Given the description of an element on the screen output the (x, y) to click on. 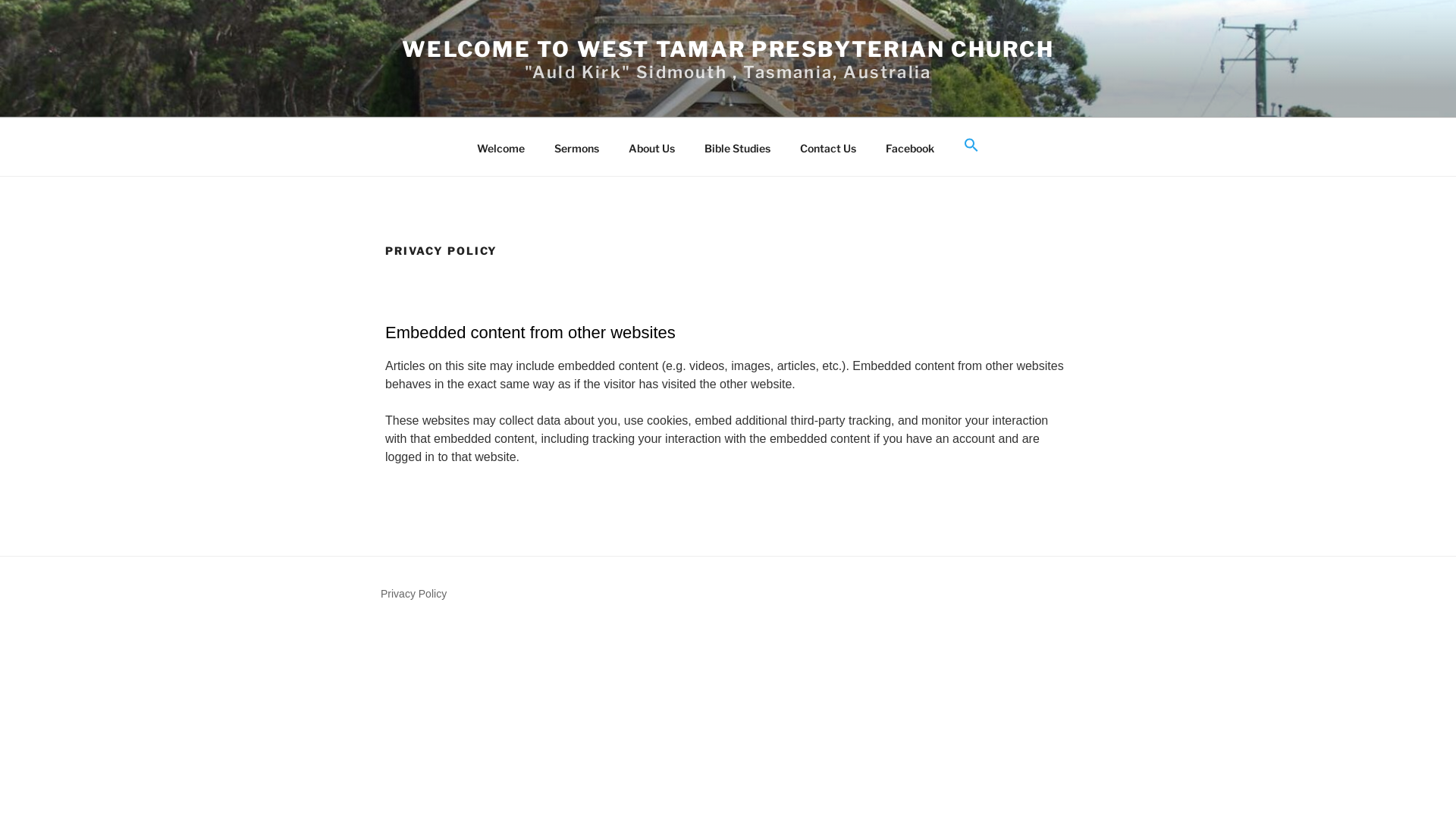
Contact Us Element type: text (827, 148)
Sermons Element type: text (576, 148)
WELCOME TO WEST TAMAR PRESBYTERIAN CHURCH Element type: text (727, 49)
Welcome Element type: text (501, 148)
Bible Studies Element type: text (737, 148)
Privacy Policy Element type: text (413, 593)
Facebook Element type: text (909, 148)
About Us Element type: text (651, 148)
